Given the description of an element on the screen output the (x, y) to click on. 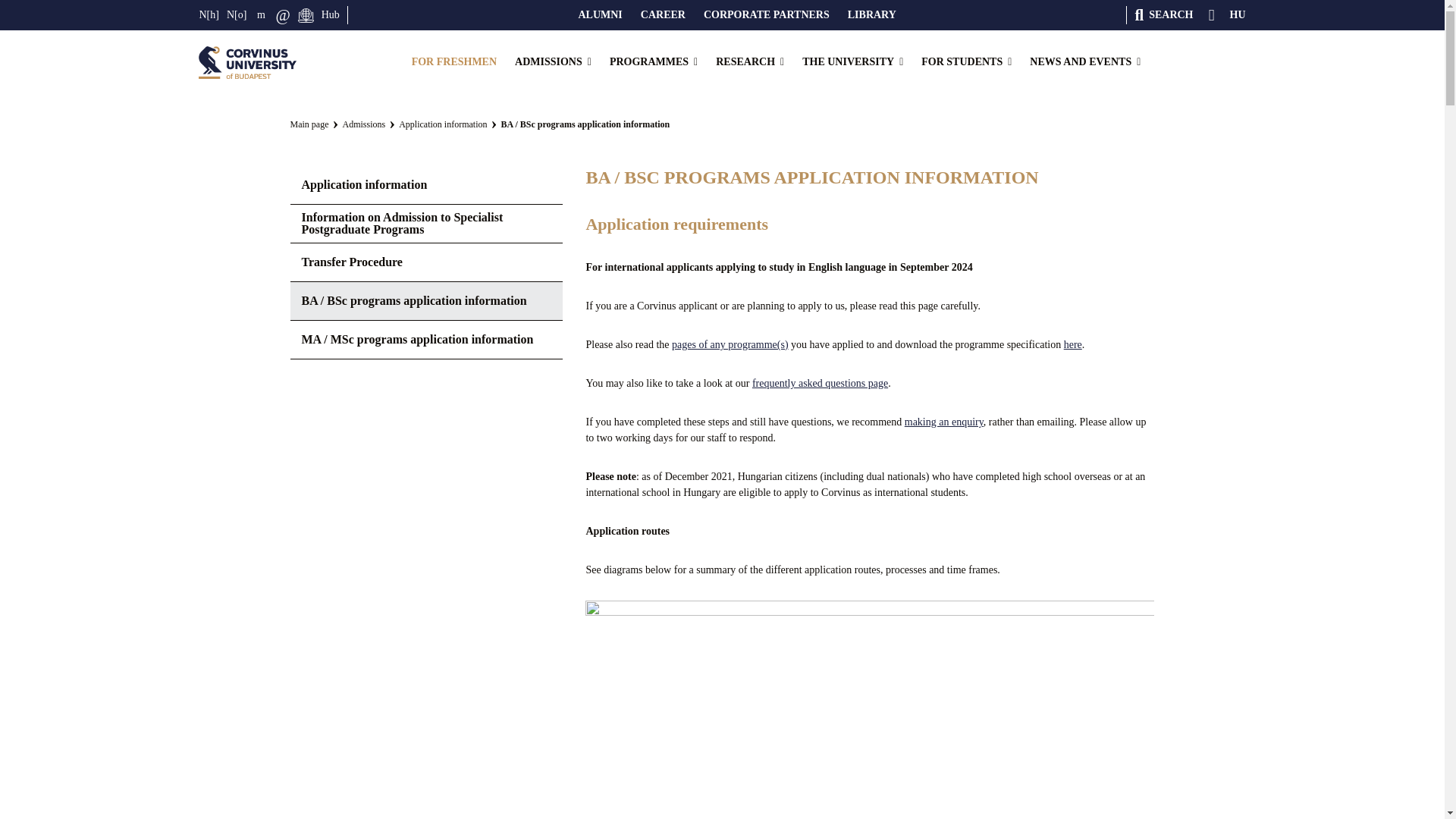
ADMISSIONS (553, 62)
Hub (330, 14)
Teacher NEPTUN (236, 14)
CAREER (662, 14)
PROGRAMMES (653, 62)
here (1072, 344)
MyCorvinus Hub (330, 14)
FOR FRESHMEN (453, 62)
making an enquiry (944, 421)
LIBRARY (871, 14)
